Given the description of an element on the screen output the (x, y) to click on. 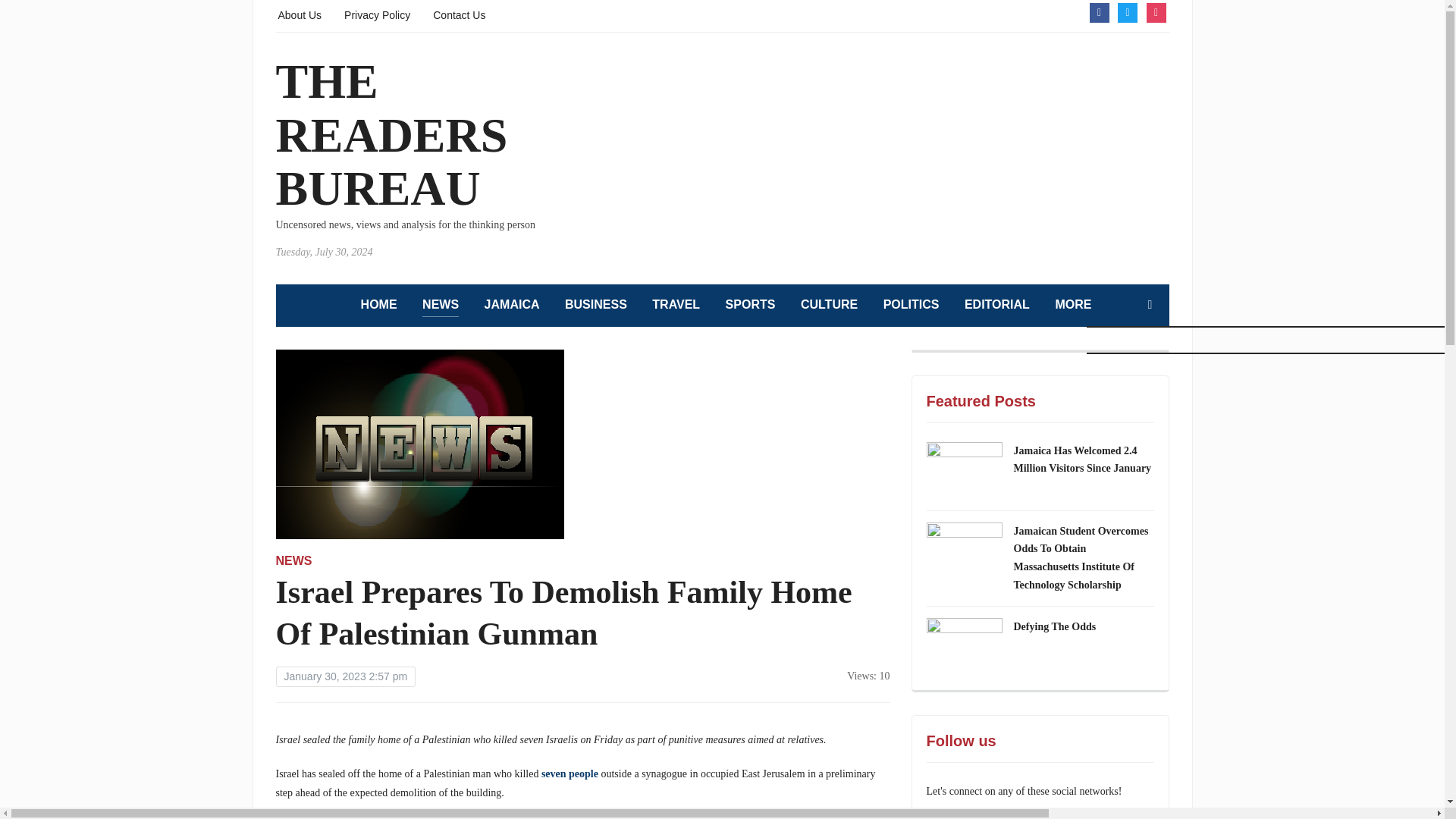
Twitter (1127, 11)
facebook (1098, 11)
Contact Us (458, 14)
Privacy Policy (376, 14)
Uncensored news, views and analysis for the thinking person (392, 134)
instagram (1156, 11)
twitter (1127, 11)
Instagram (1156, 11)
THE READERS BUREAU (392, 134)
Search (1149, 304)
About Us (299, 14)
Facebook (1098, 11)
